Given the description of an element on the screen output the (x, y) to click on. 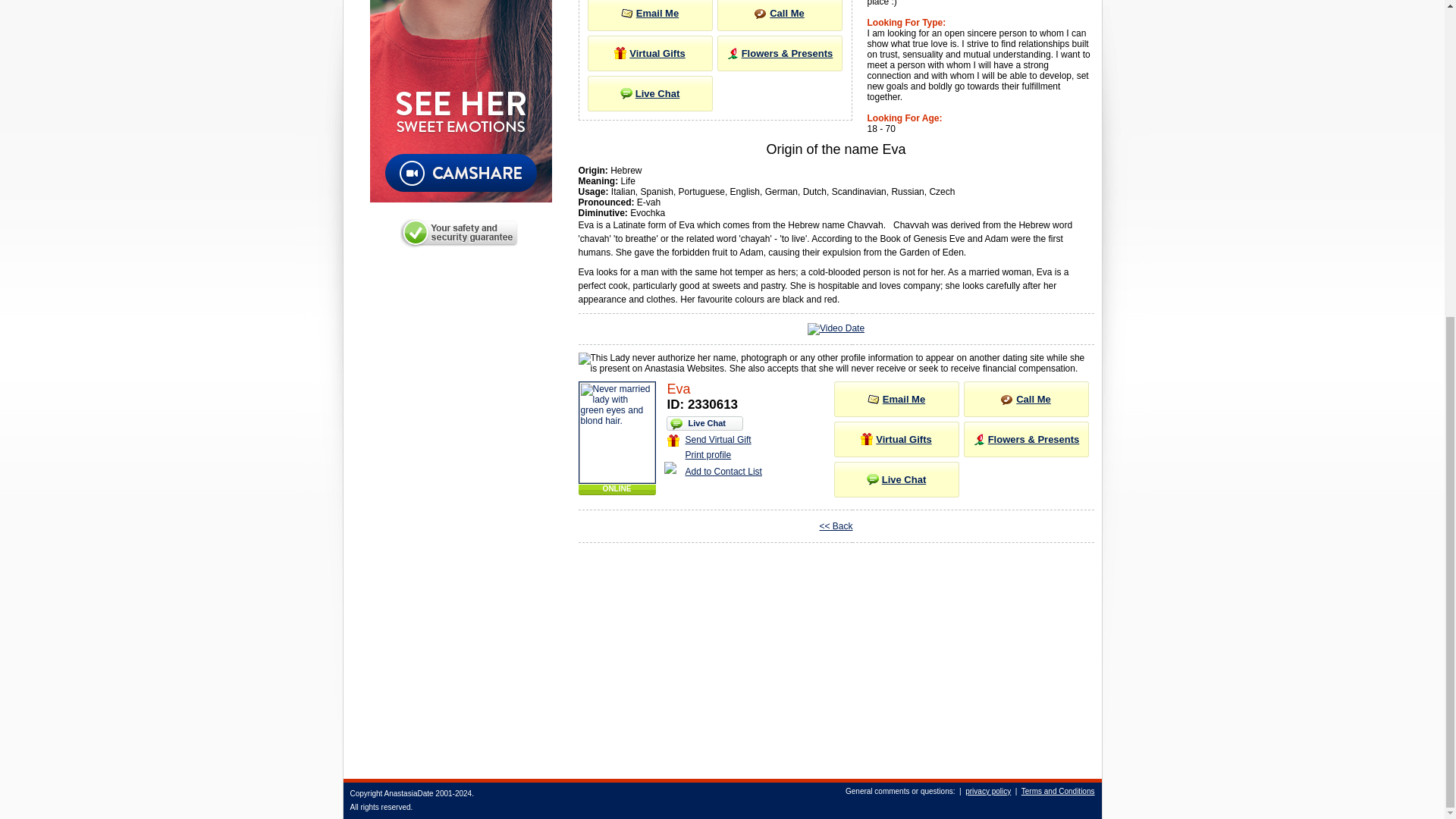
Live Chat with Eva (649, 93)
Live Chat with Eva (896, 479)
Call Eva (779, 12)
Send virtual gift to Eva (649, 52)
Send virtual gift to Eva (895, 439)
Call Me (779, 12)
Live Chat (649, 93)
Email Me (649, 12)
Send a letter to Eva via AnastasiaDate mailing system (649, 12)
